Given the description of an element on the screen output the (x, y) to click on. 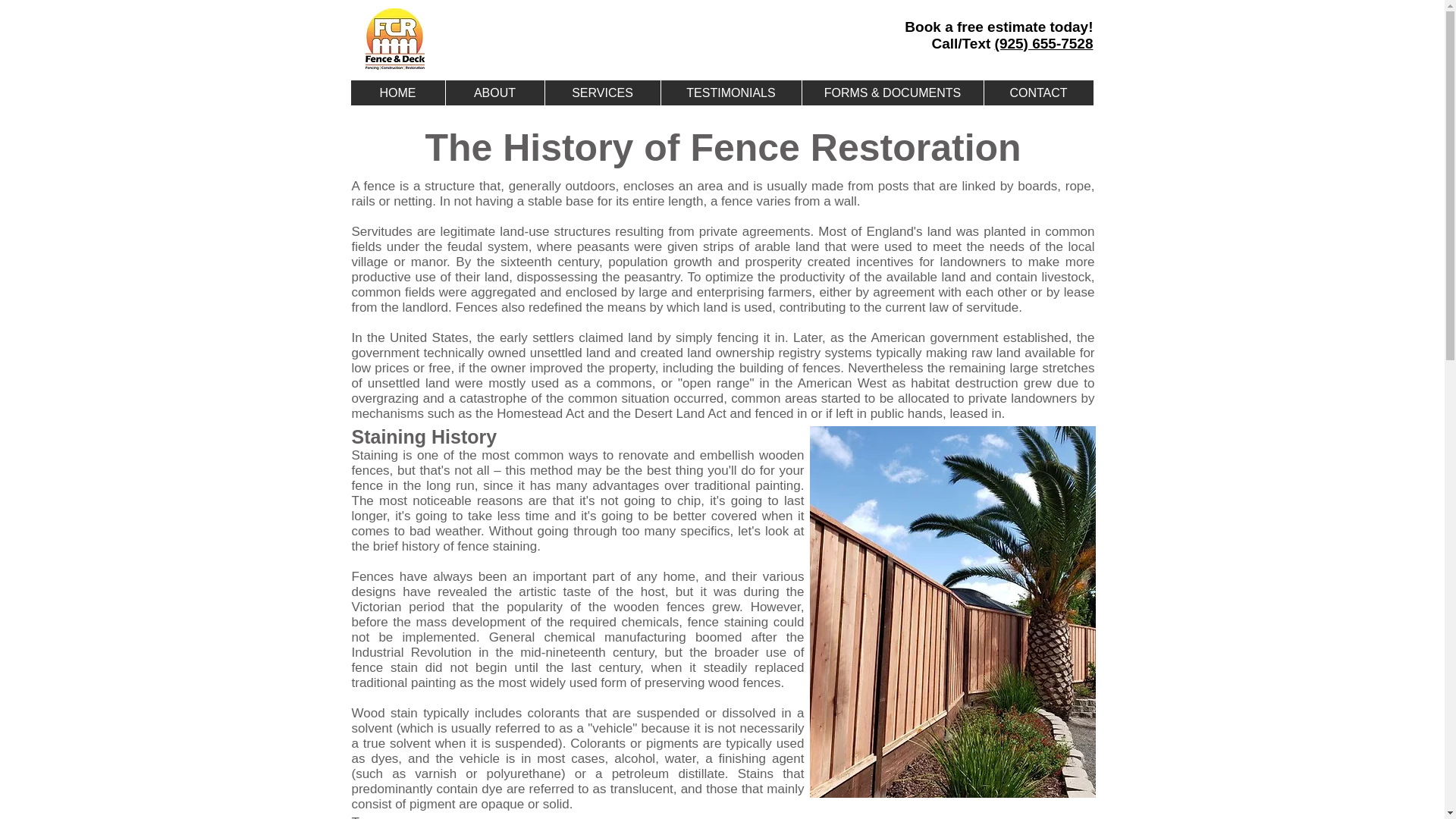
SERVICES (602, 92)
ABOUT (493, 92)
TESTIMONIALS (729, 92)
CONTACT (1037, 92)
HOME (397, 92)
